Given the description of an element on the screen output the (x, y) to click on. 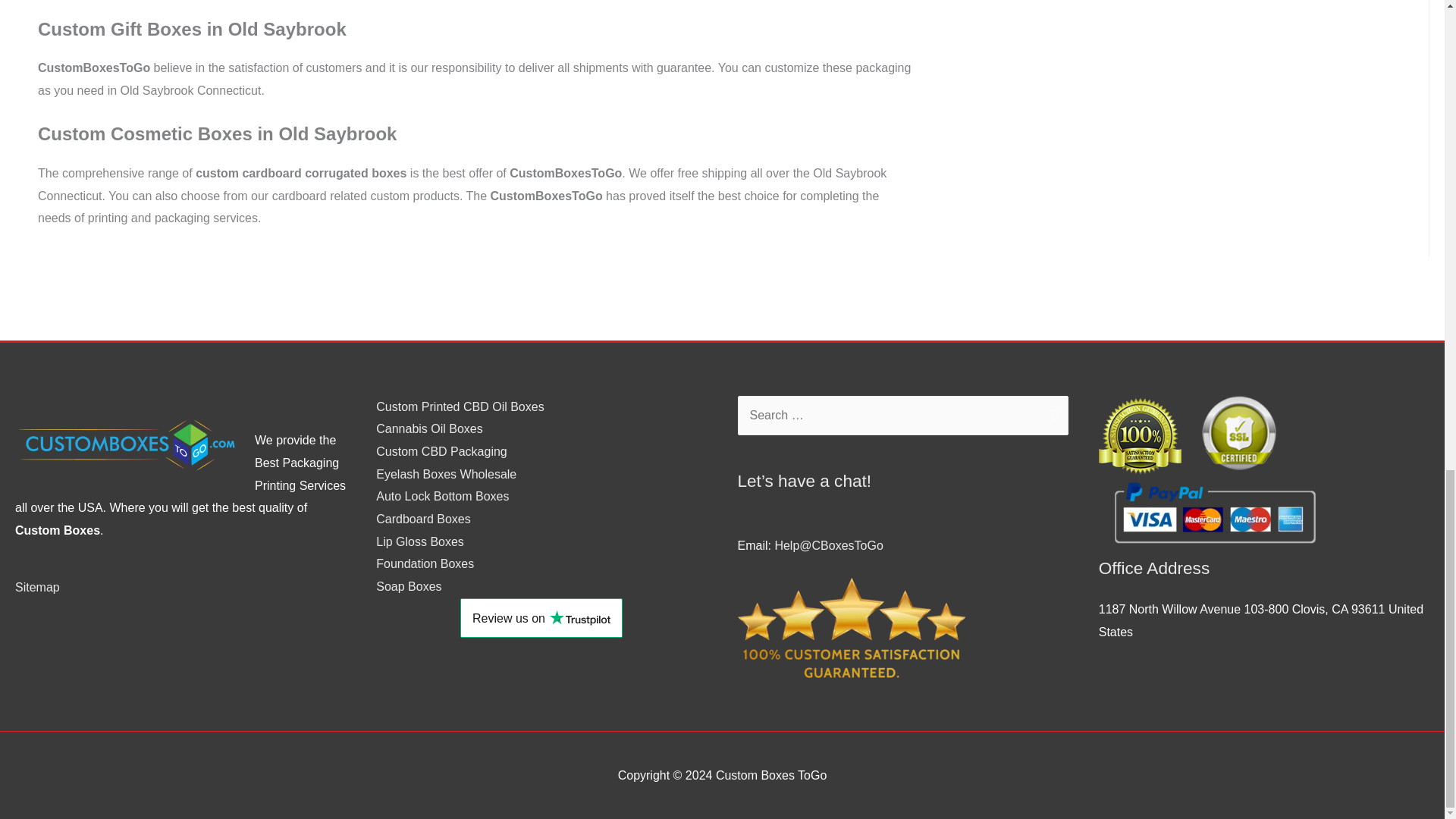
Customer reviews powered by Trustpilot (540, 618)
Eyelash Boxes Wholesale (445, 473)
Cannabis Oil Boxes (429, 428)
Sitemap (36, 586)
Custom Printed CBD Oil Boxes (459, 406)
Lip Gloss Boxes (419, 541)
Cardboard Boxes (422, 518)
Foundation Boxes (424, 563)
Soap Boxes (408, 585)
Auto Lock Bottom Boxes (441, 495)
Custom CBD Packaging (440, 451)
